Given the description of an element on the screen output the (x, y) to click on. 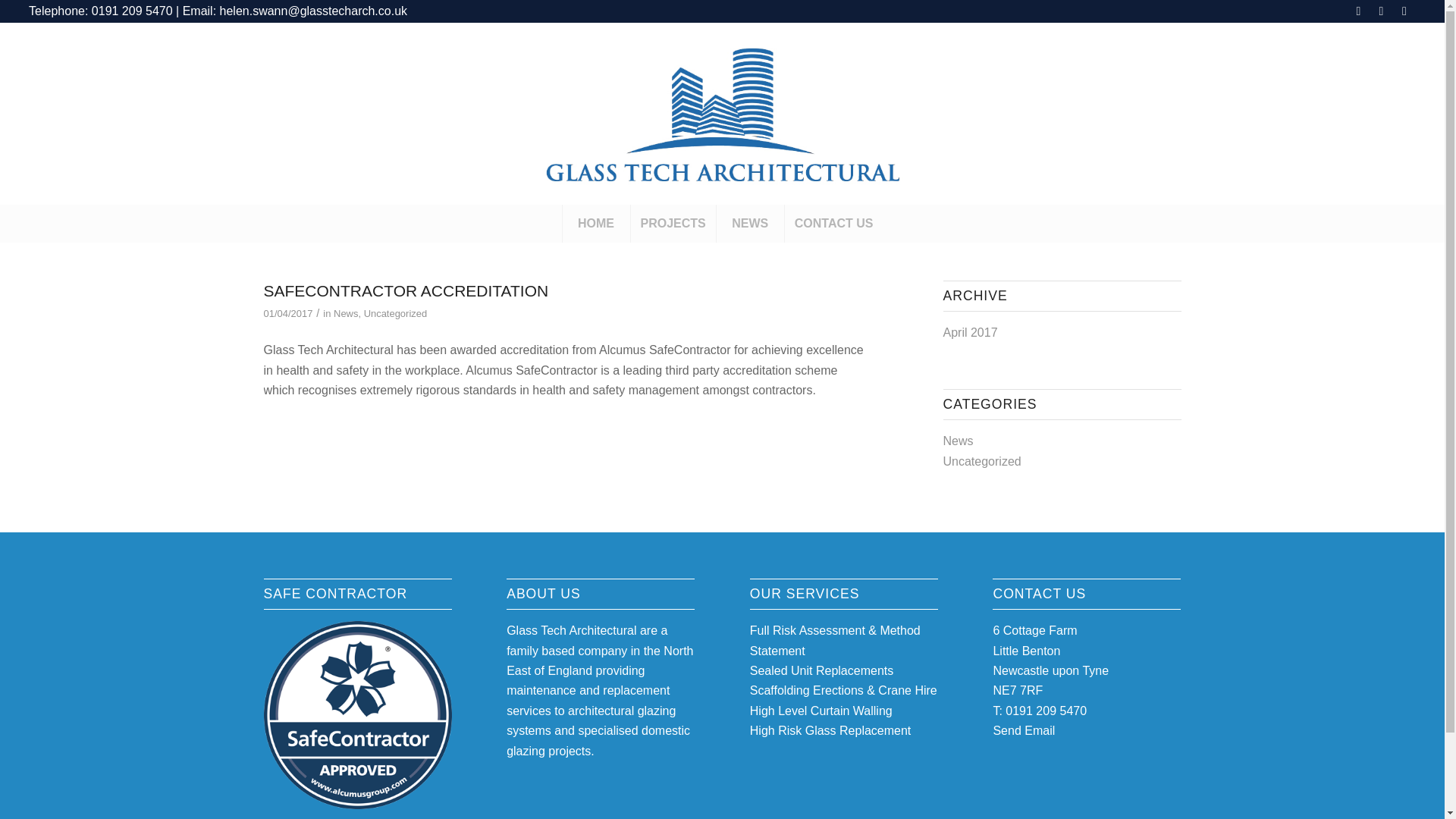
News (958, 440)
Uncategorized (982, 461)
Instagram (1380, 11)
April 2017 (970, 332)
News (345, 313)
Facebook (1359, 11)
SAFECONTRACTOR ACCREDITATION (405, 290)
HOME (596, 223)
Mail (1404, 11)
Send Email (1023, 730)
CONTACT US (833, 223)
Uncategorized (396, 313)
glasstech-logo-2 (721, 113)
PROJECTS (673, 223)
Permanent Link: SafeContractor Accreditation (405, 290)
